Given the description of an element on the screen output the (x, y) to click on. 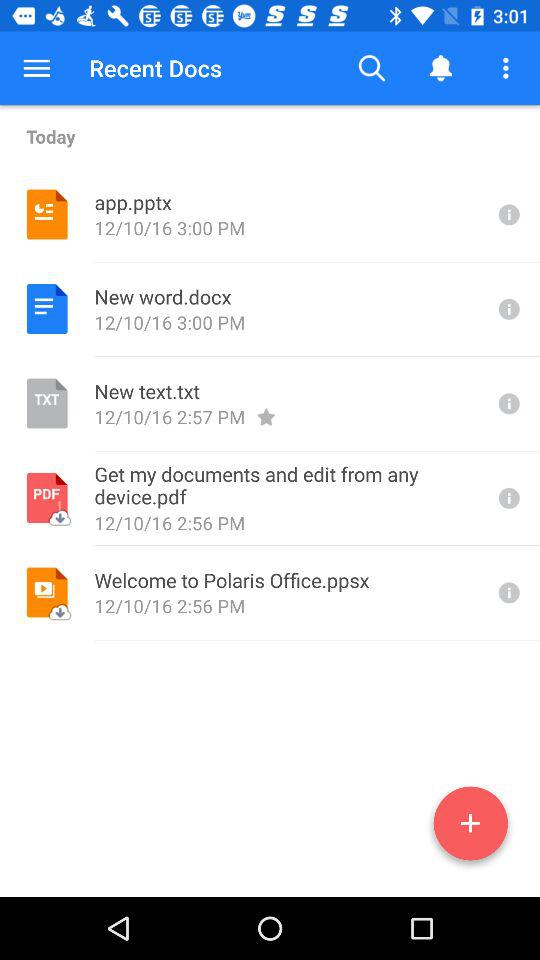
view more information (507, 592)
